Given the description of an element on the screen output the (x, y) to click on. 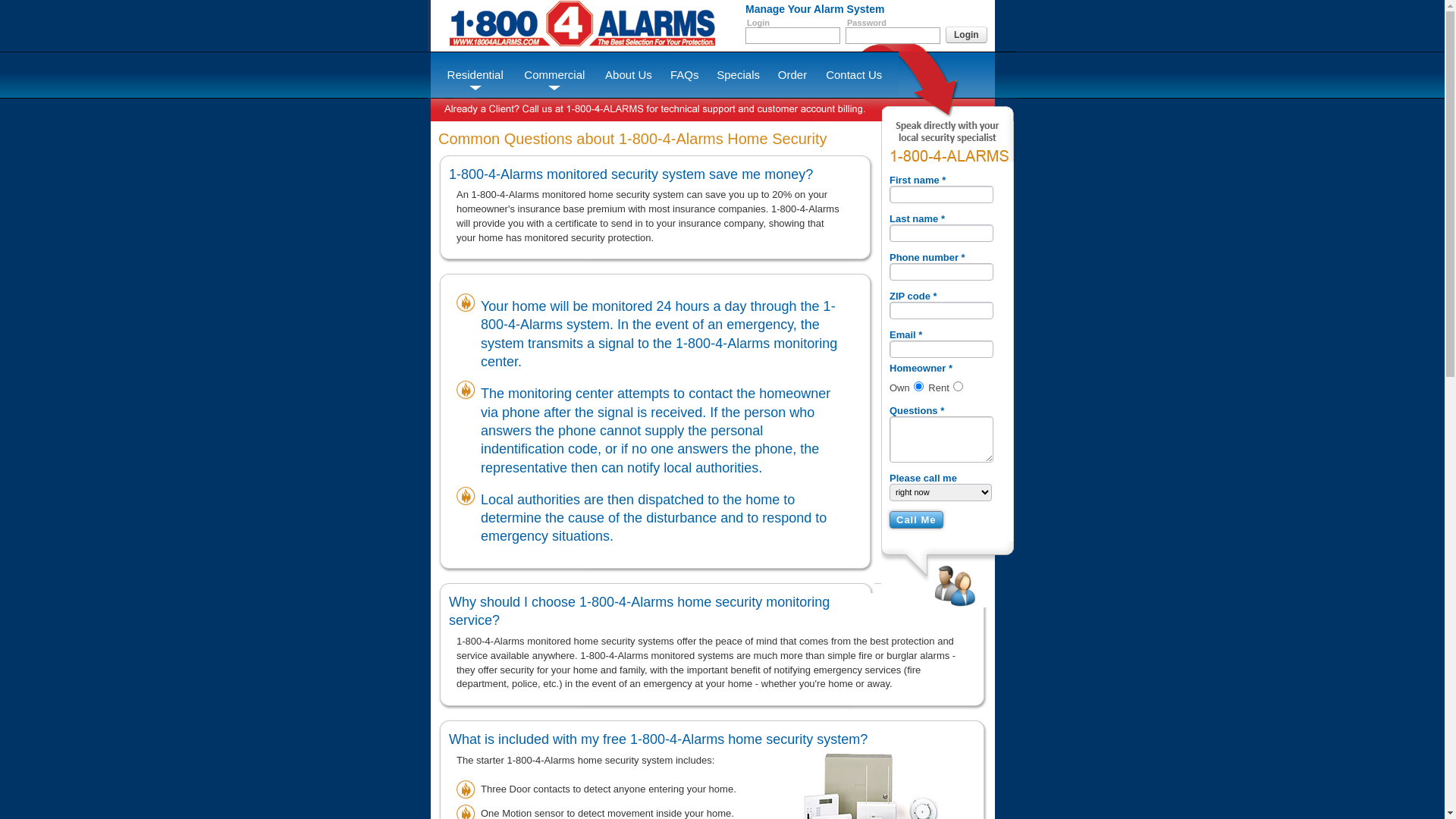
About Us Element type: text (628, 74)
Specials Element type: text (738, 74)
Commercial Element type: text (554, 74)
Contact Us Element type: text (853, 74)
Login Element type: text (966, 34)
Residential Element type: text (474, 74)
Order Element type: text (791, 74)
FAQs Element type: text (684, 74)
Call Me Element type: text (916, 519)
Speak directly with your local 1-800-4-Alarms specialist Element type: hover (948, 135)
1-800-4-ALARMS Element type: hover (948, 155)
